Given the description of an element on the screen output the (x, y) to click on. 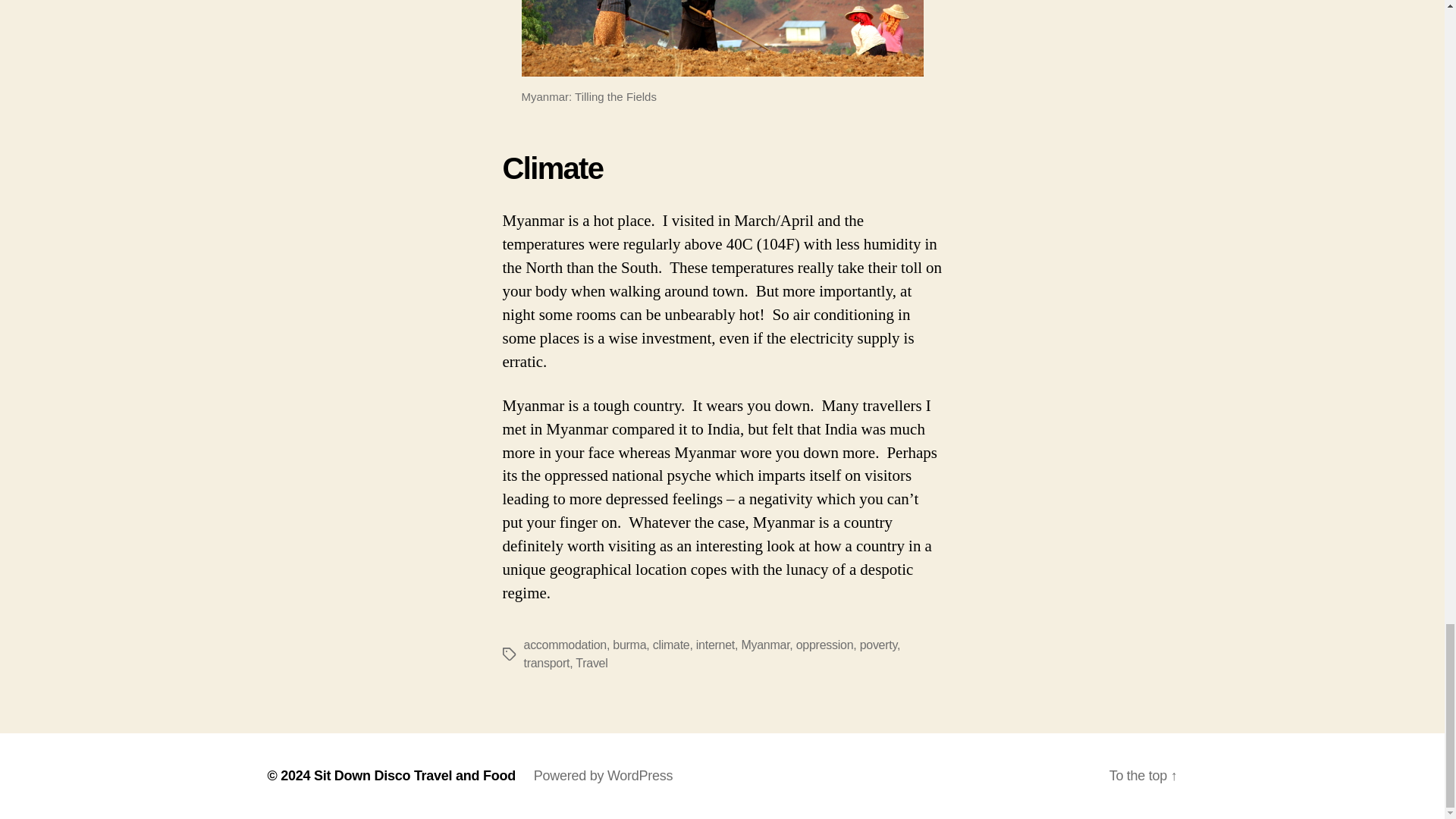
Myanmar: Tilling the Fields (722, 38)
burma (629, 644)
Sit Down Disco Travel and Food (414, 775)
Powered by WordPress (603, 775)
oppression (824, 644)
Travel (591, 662)
climate (671, 644)
internet (715, 644)
poverty (878, 644)
accommodation (563, 644)
Myanmar (765, 644)
transport (545, 662)
